Given the description of an element on the screen output the (x, y) to click on. 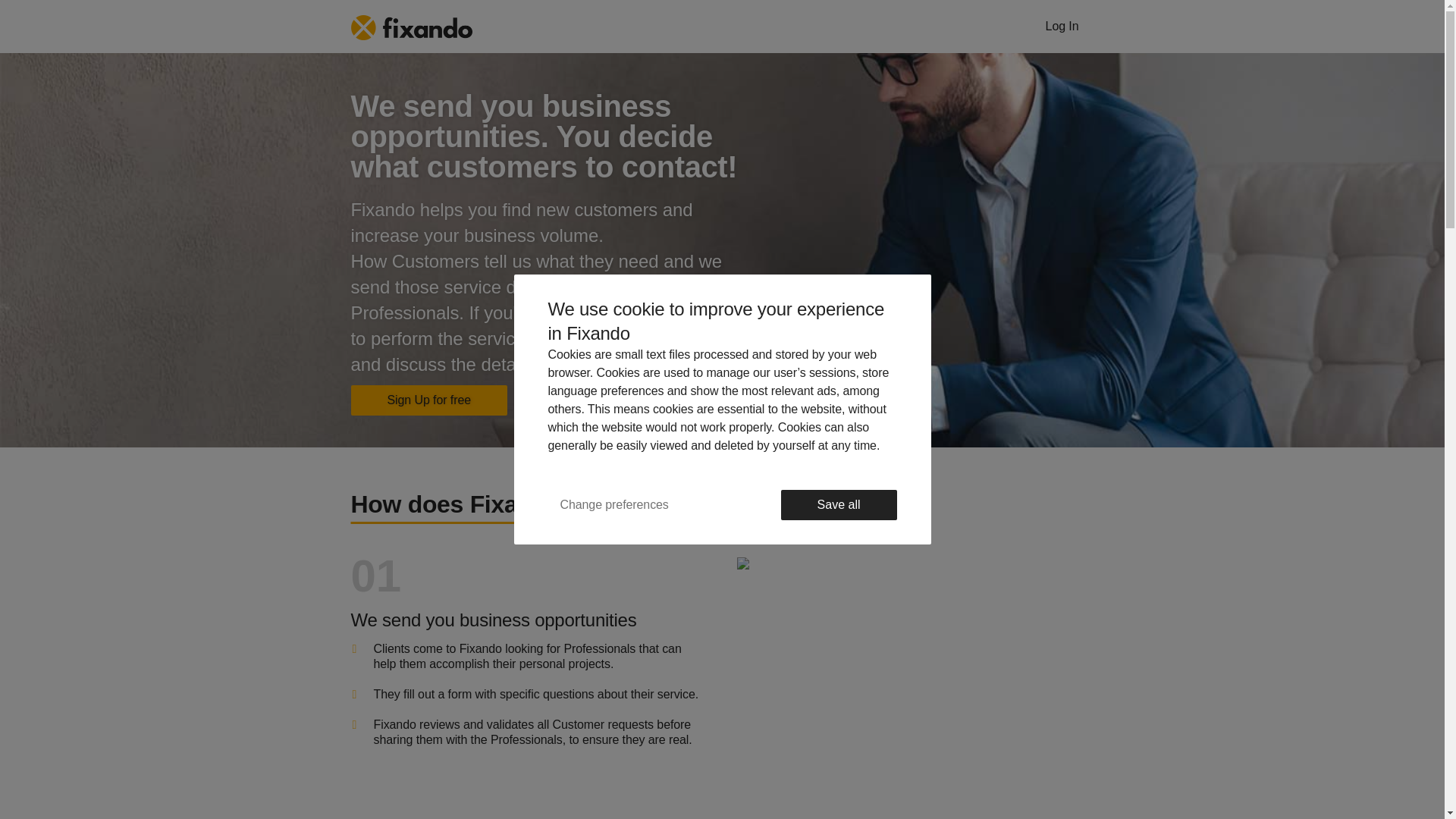
Log In (1062, 26)
Change preferences (613, 504)
Save all (838, 504)
Sign Up for free (428, 399)
Sign Up for free (428, 399)
